Given the description of an element on the screen output the (x, y) to click on. 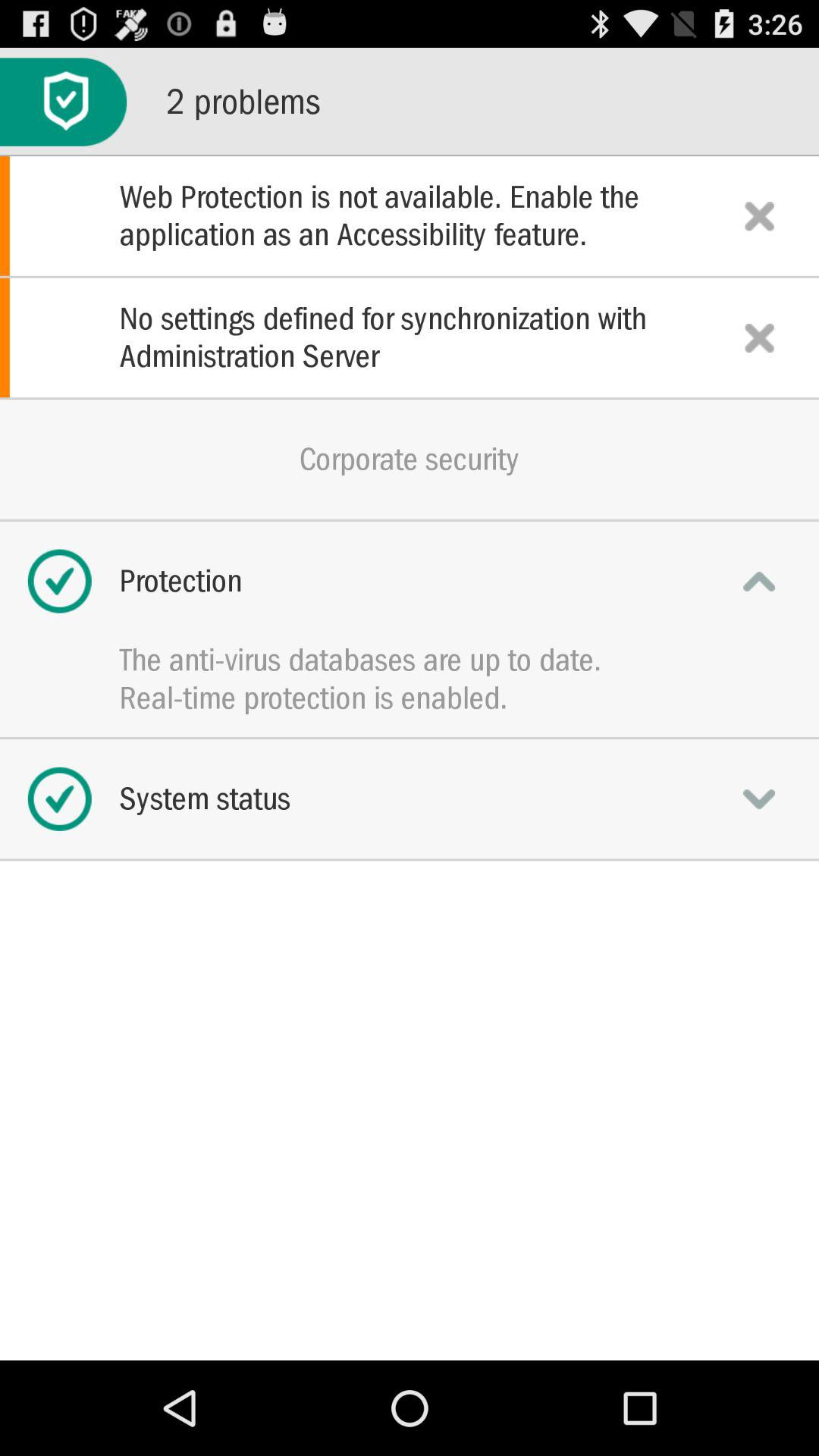
turn off icon at the top left corner (63, 102)
